Given the description of an element on the screen output the (x, y) to click on. 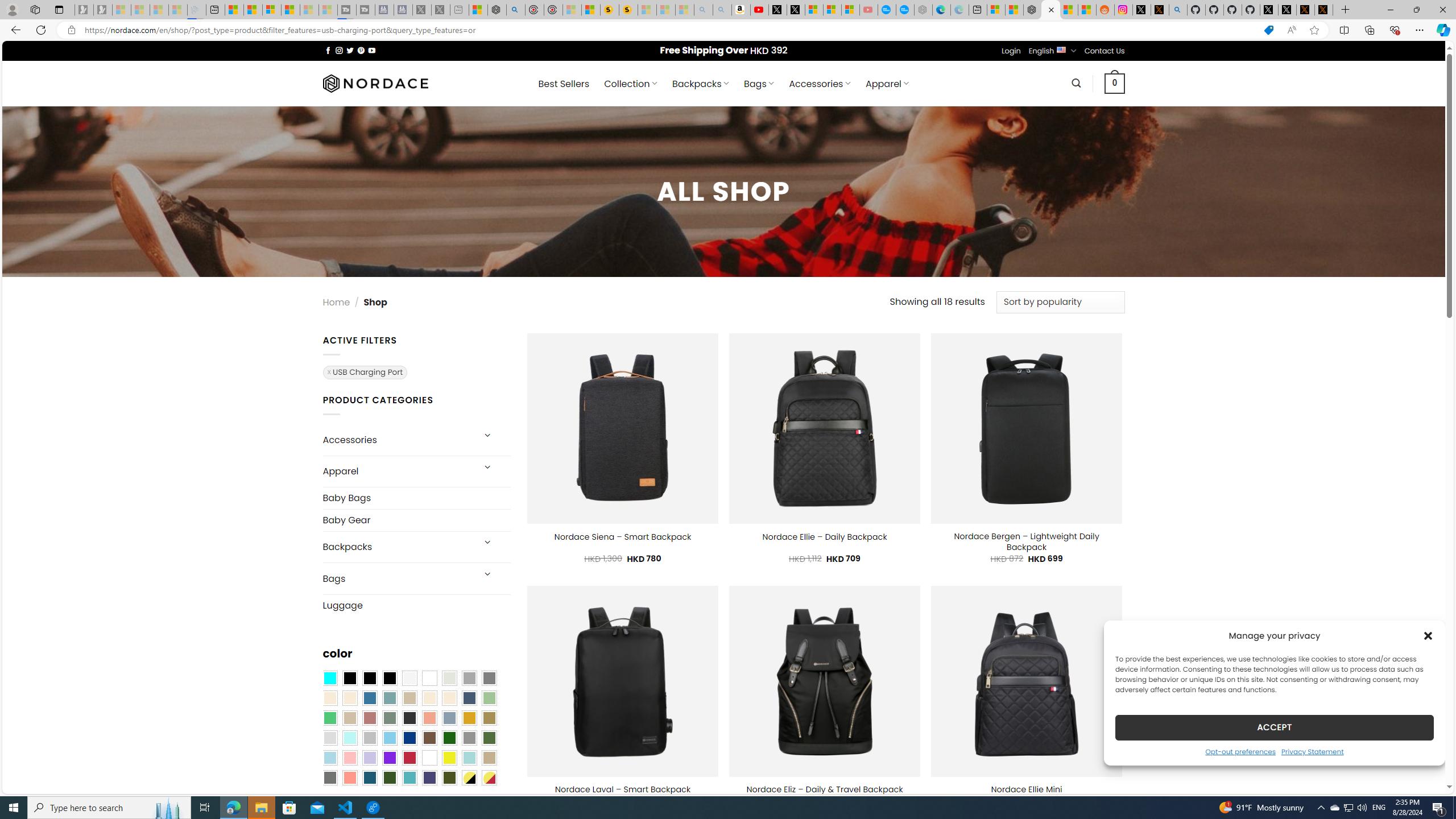
Light Blue (329, 758)
Peach Pink (349, 777)
Collections (1369, 29)
Blue Sage (389, 698)
Close (1442, 9)
X (795, 9)
Copilot (Ctrl+Shift+.) (1442, 29)
Gray (468, 737)
Beige (329, 698)
Coral (429, 717)
Wildlife - MSN (478, 9)
